Given the description of an element on the screen output the (x, y) to click on. 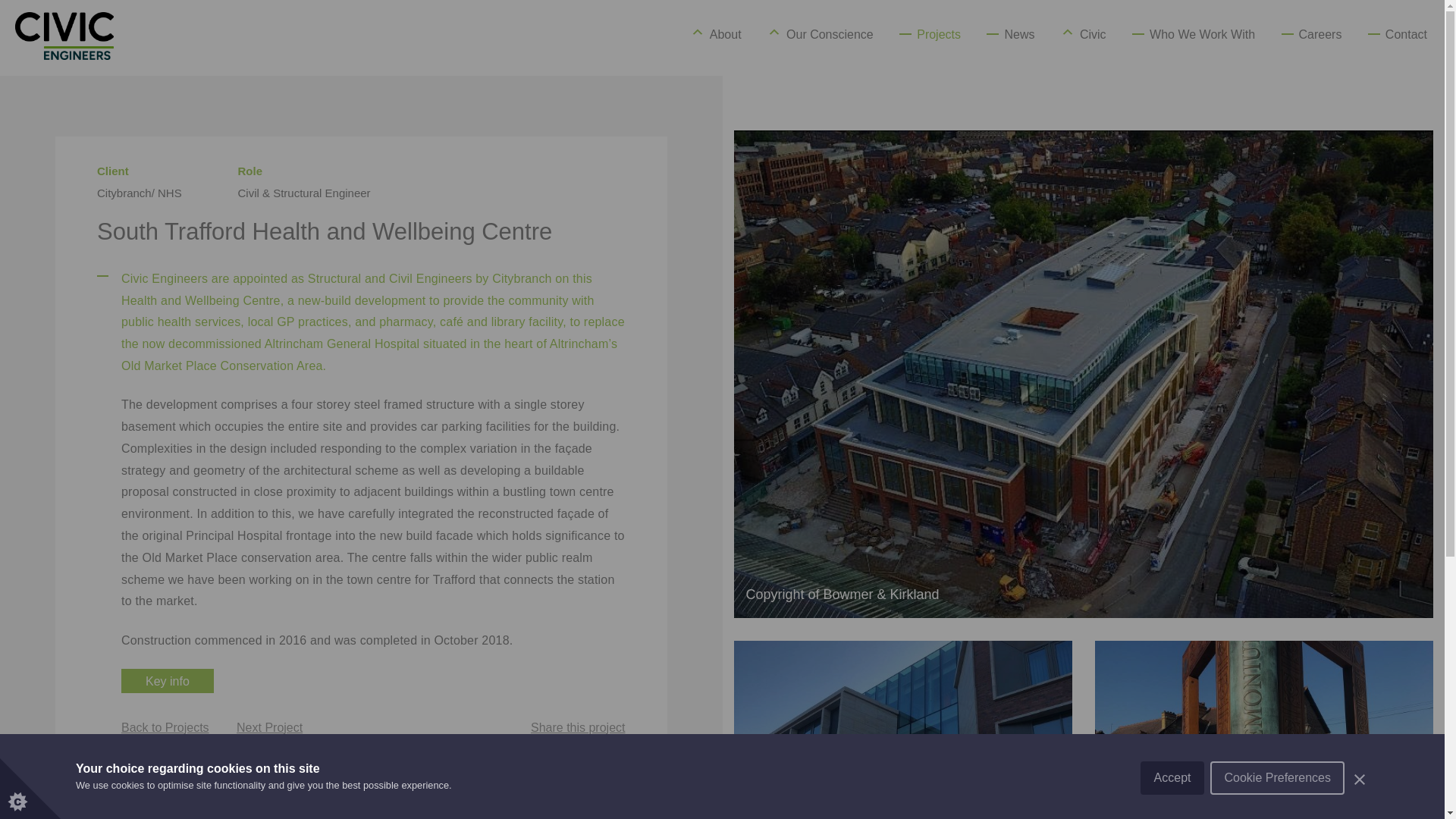
Our Conscience (829, 33)
Share this project (578, 728)
Next Project (268, 728)
Careers (1319, 33)
Civic (1093, 33)
Projects (938, 33)
Who We Work With (1202, 33)
Privacy Policy (1397, 805)
About (725, 33)
Back to Projects (164, 728)
Cookie Preferences (1276, 815)
Contact (1406, 33)
News (1018, 33)
Civic Engineers (75, 10)
